Given the description of an element on the screen output the (x, y) to click on. 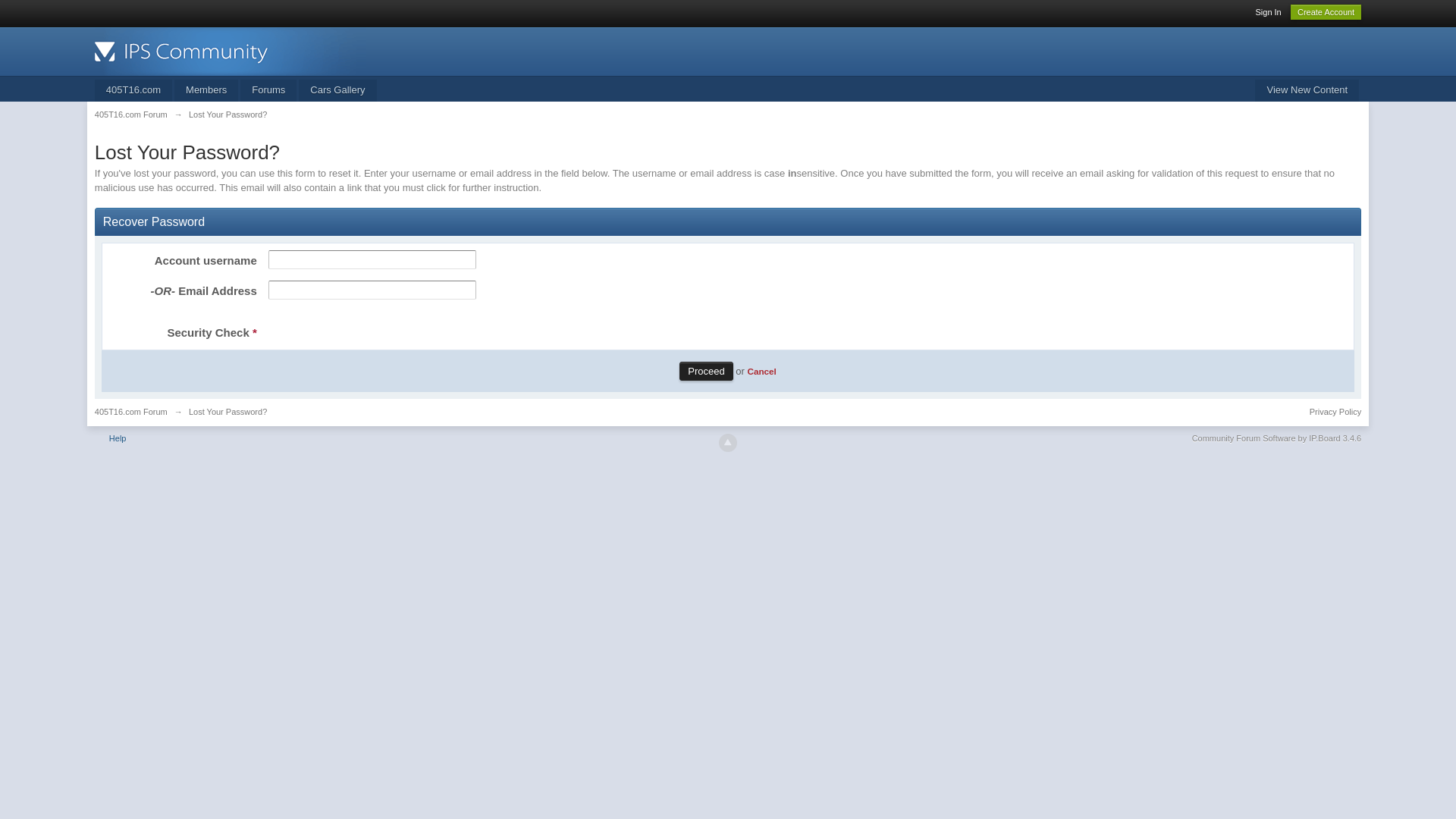
Forums Element type: text (268, 90)
Community Forum Software by IP.Board 3.4.6 Element type: text (1276, 437)
Create Account Element type: text (1325, 11)
405T16.com Element type: text (133, 90)
Privacy Policy Element type: text (1335, 411)
Cars Gallery Element type: text (337, 90)
Members Element type: text (206, 90)
Go to community index Element type: hover (230, 50)
405T16.com Forum Element type: text (130, 411)
Proceed Element type: text (705, 370)
Go to top Element type: hover (727, 442)
Cancel Element type: text (760, 371)
View New Content Element type: text (1306, 90)
405T16.com Forum Element type: text (130, 114)
Sign In Element type: text (1267, 11)
Help Element type: text (117, 437)
